Given the description of an element on the screen output the (x, y) to click on. 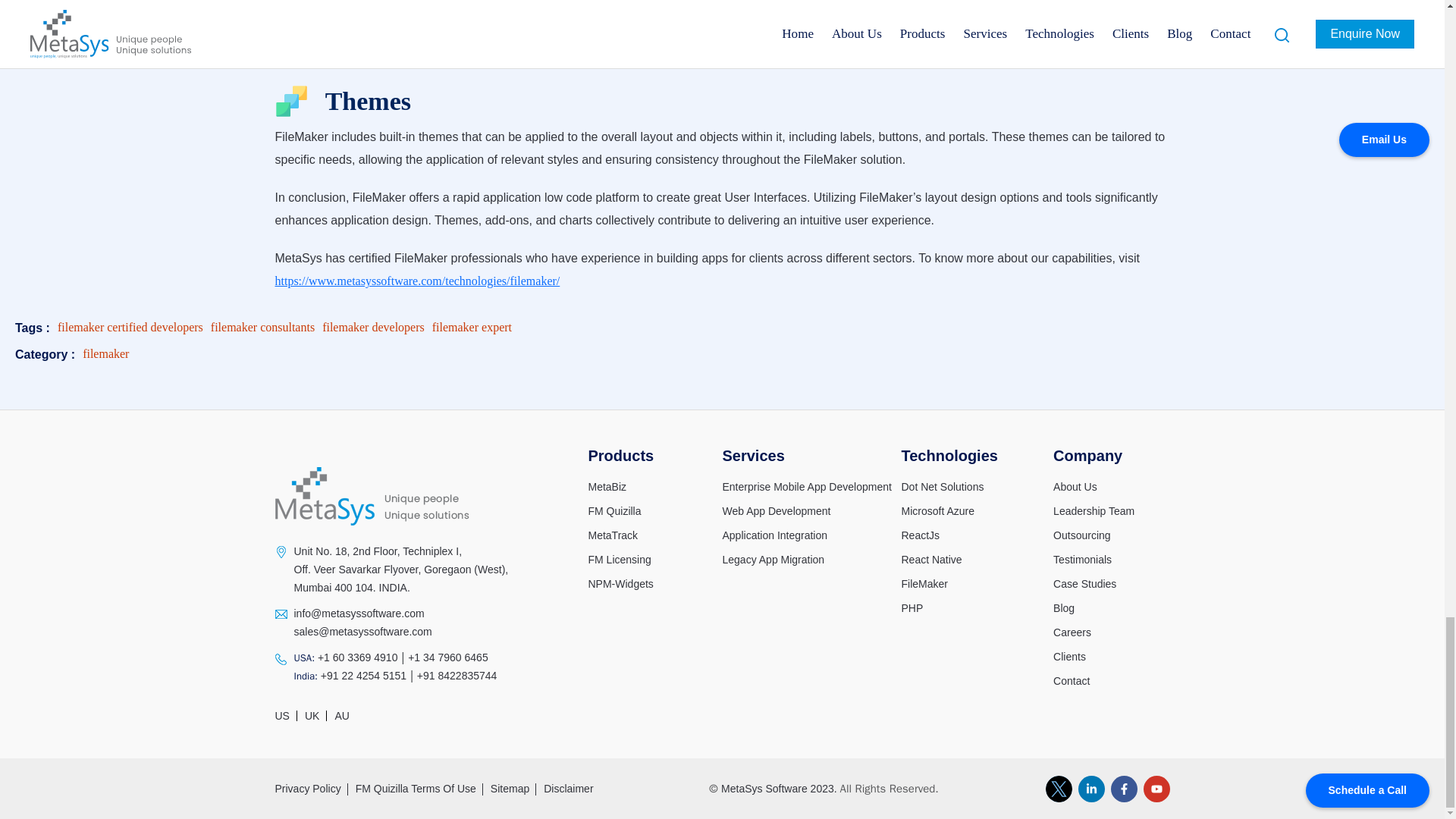
Mail us (363, 631)
Call Us (361, 675)
Call Us (355, 657)
filemaker expert Tag (472, 327)
Call Us (447, 657)
FileMaker consultants Tag (262, 327)
Visit Us (401, 569)
FileMaker certified developers Tag (130, 327)
Mail us (359, 613)
FileMaker developers Tag (373, 327)
